Given the description of an element on the screen output the (x, y) to click on. 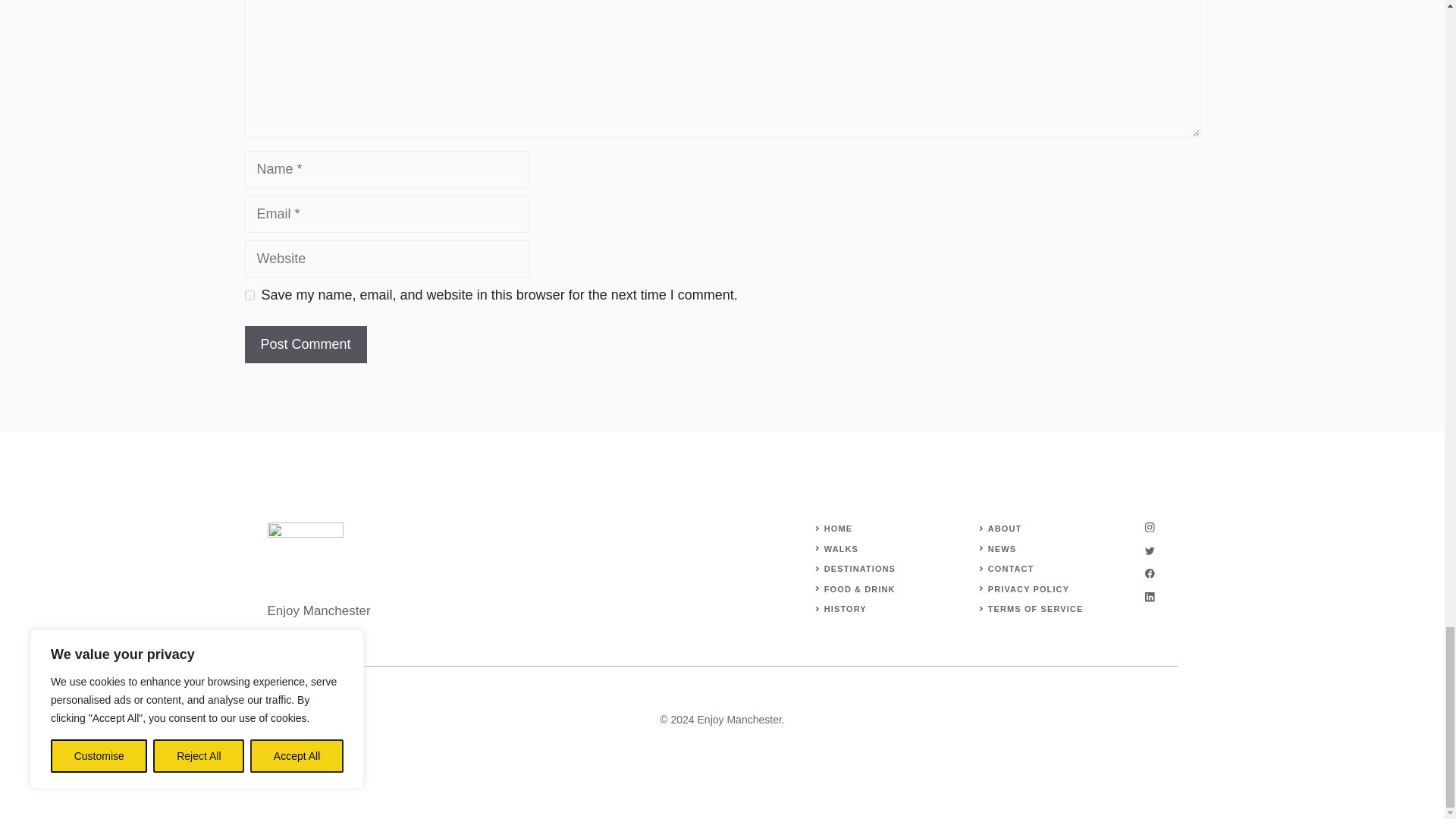
yes (248, 295)
Post Comment (305, 344)
cropped-Minimalistic-logo-for-organic-honey-with-bee-1.jpg (304, 555)
